Given the description of an element on the screen output the (x, y) to click on. 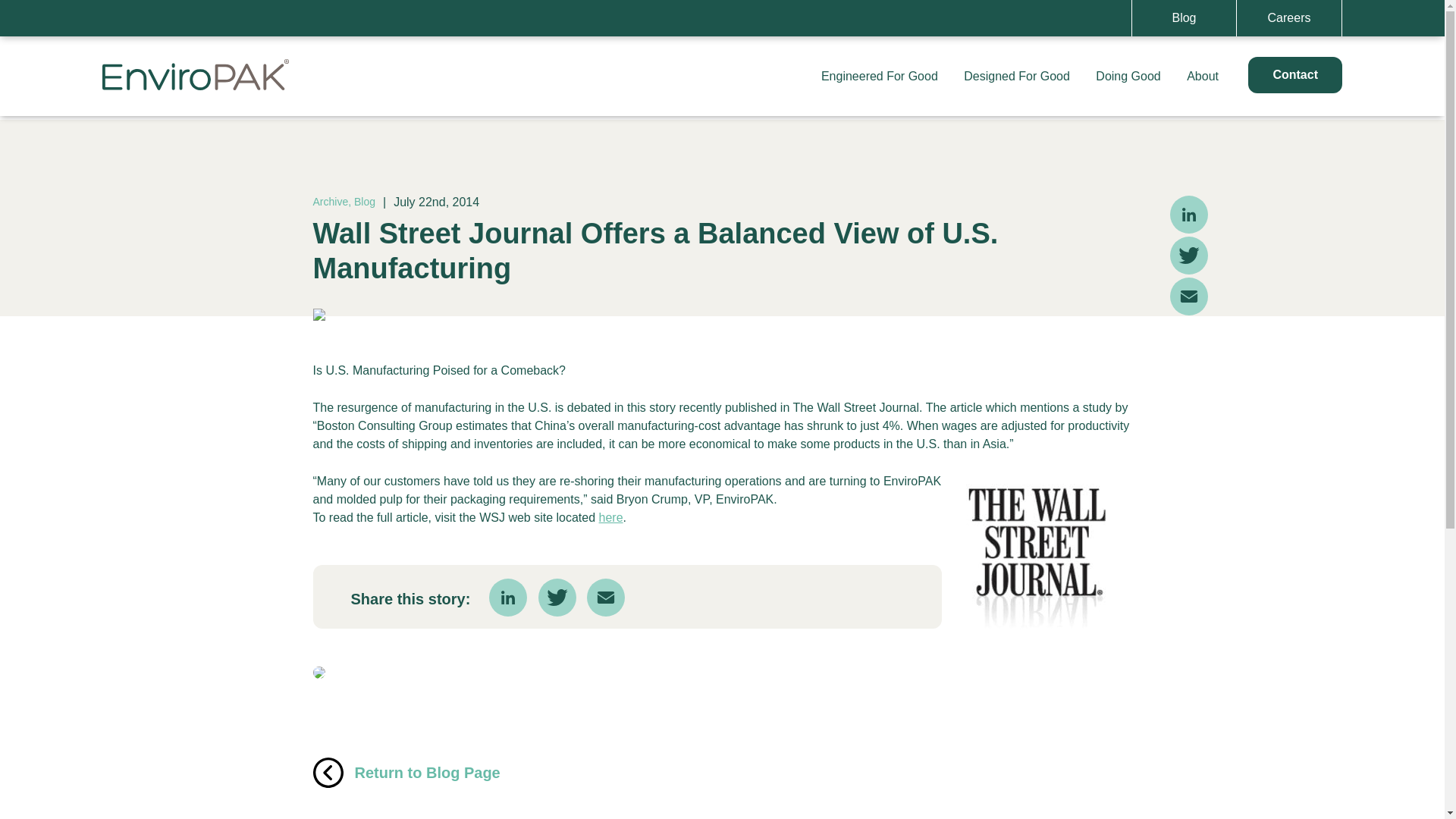
Careers (1289, 18)
Blog (1183, 18)
Designed For Good (1016, 76)
Doing Good (1128, 76)
Contact (1294, 74)
Engineered For Good (879, 76)
